Given the description of an element on the screen output the (x, y) to click on. 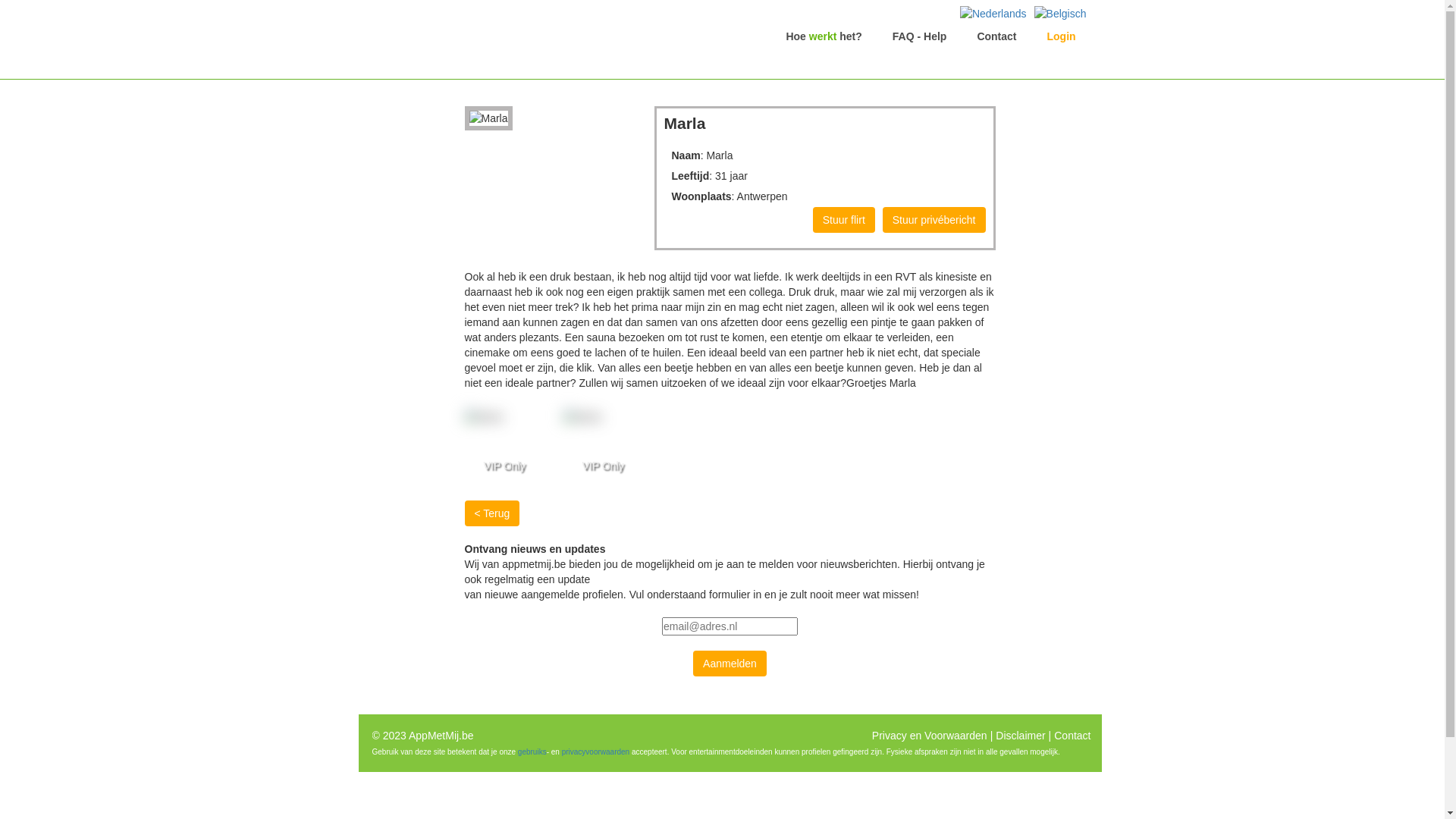
Contact Element type: text (1072, 735)
Marla Element type: hover (600, 416)
Hoe werkt het? Element type: text (823, 36)
Login Element type: text (1065, 36)
Aanmelden Element type: text (729, 663)
Disclaimer Element type: text (1019, 735)
Stuur flirt Element type: text (843, 219)
Appmetmij.be Element type: text (501, 36)
Marla Element type: hover (501, 416)
privacyvoorwaarden Element type: text (595, 751)
< Terug Element type: text (491, 513)
Privacy en Voorwaarden Element type: text (929, 735)
gebruiks Element type: text (531, 751)
FAQ - Help Element type: text (919, 36)
Contact Element type: text (996, 36)
Marla Element type: hover (488, 118)
